Given the description of an element on the screen output the (x, y) to click on. 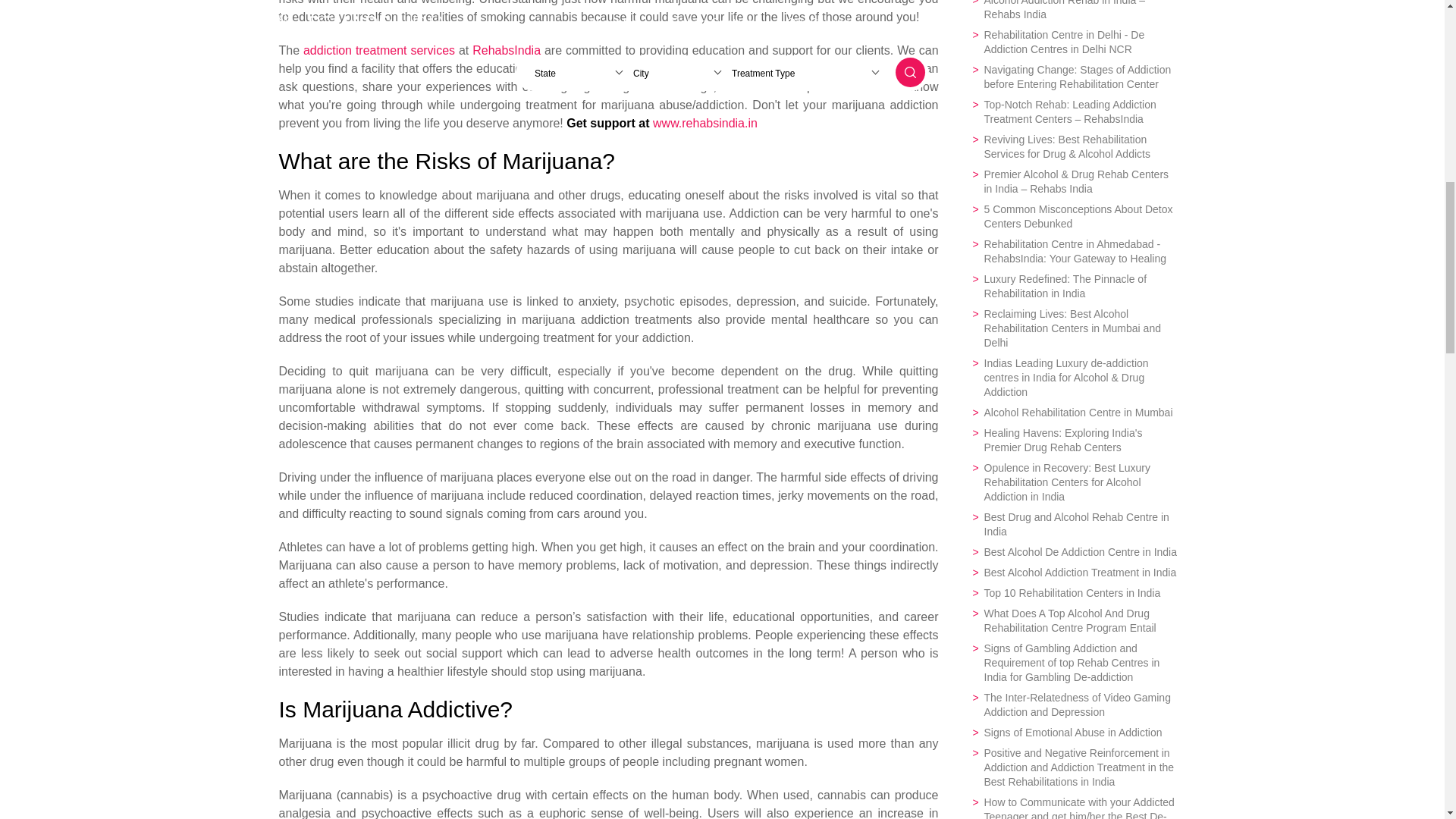
RehabsIndia (505, 50)
Best Drug and Alcohol Rehab Centre in India (1073, 524)
5 Common Misconceptions About Detox Centers Debunked (1073, 216)
Luxury Redefined: The Pinnacle of Rehabilitation in India (1073, 286)
Healing Havens: Exploring India's Premier Drug Rehab Centers (1073, 440)
www.rehabsindia.in (704, 123)
